Given the description of an element on the screen output the (x, y) to click on. 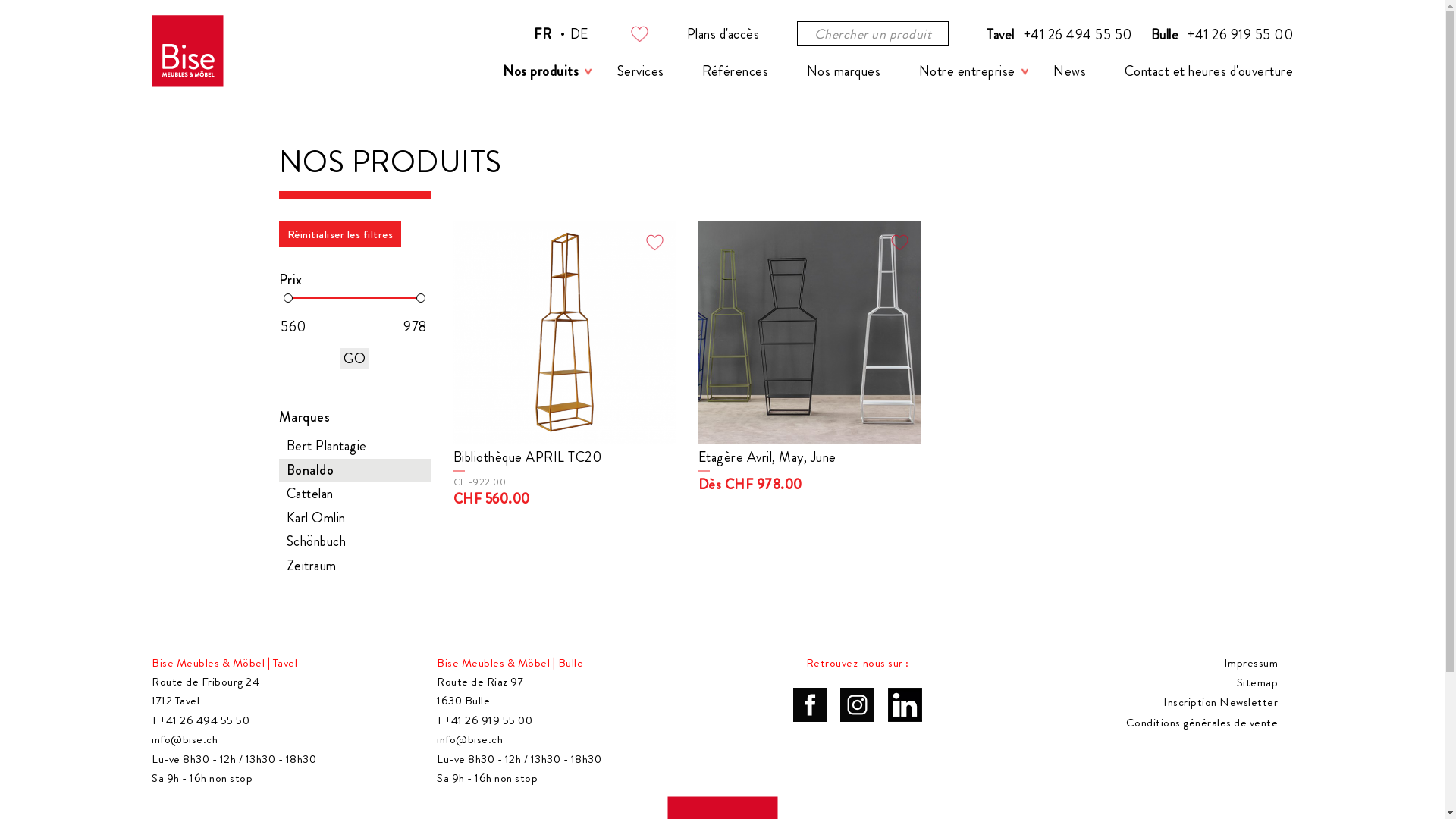
Bonaldo Element type: text (354, 470)
Services Element type: text (640, 71)
+41 26 919 55 00 Element type: text (1239, 34)
Zeitraum Element type: text (354, 565)
Cattelan Element type: text (354, 494)
info@bise.ch Element type: text (469, 739)
Impressum Element type: text (1250, 663)
Wishlist Element type: text (638, 33)
Bert Plantagie Element type: text (354, 446)
Go Element type: text (354, 358)
Sitemap Element type: text (1256, 683)
News Element type: text (1069, 71)
Karl Omlin Element type: text (354, 518)
Inscription Newsletter Element type: text (1220, 702)
info@bise.ch Element type: text (184, 739)
Nos marques Element type: text (843, 71)
+41 26 494 55 50 Element type: text (1077, 34)
FR Element type: text (542, 33)
Contact et heures d'ouverture Element type: text (1207, 71)
DE Element type: text (578, 33)
Notre entreprise Element type: text (967, 71)
Nos produits Element type: text (540, 71)
